Given the description of an element on the screen output the (x, y) to click on. 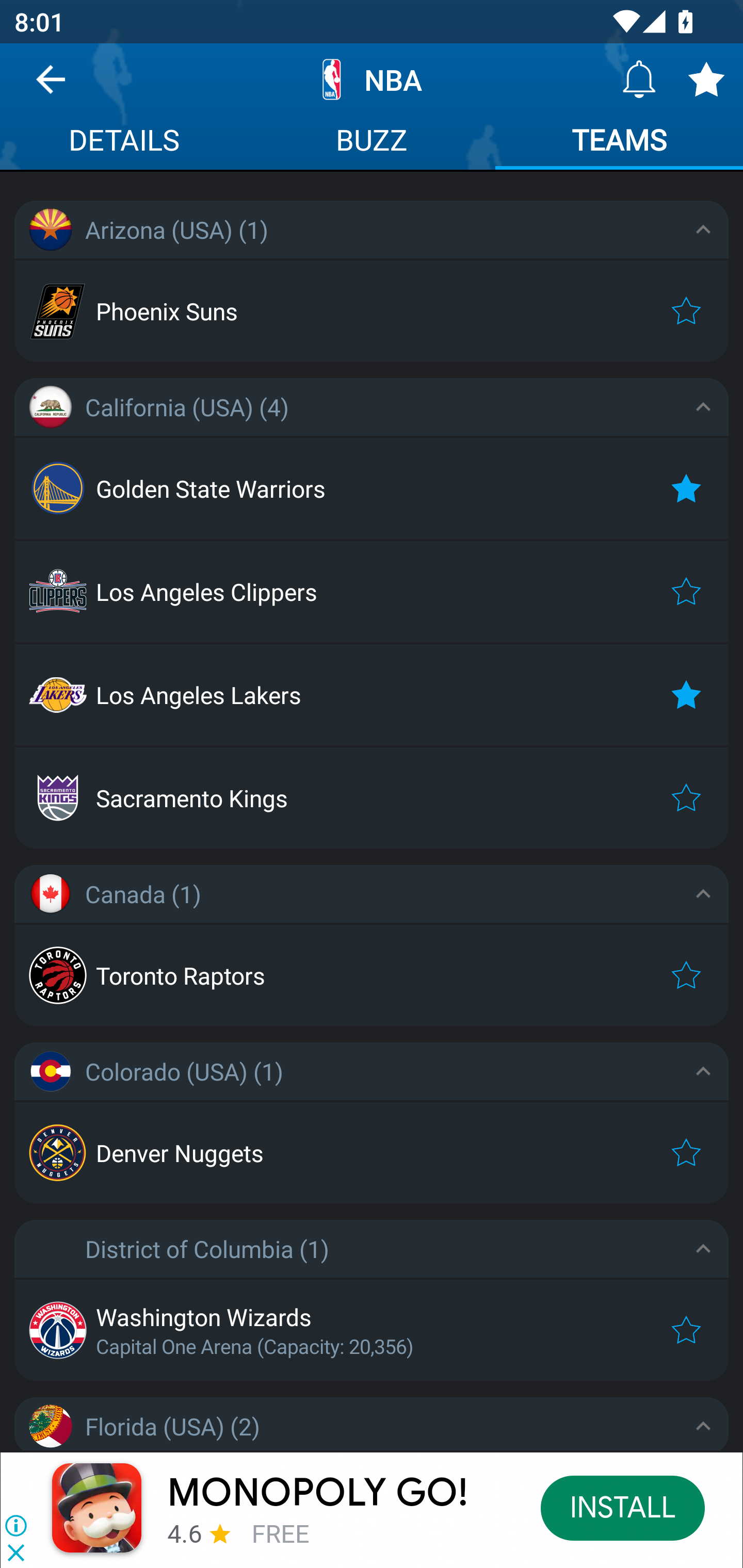
Navigate up (50, 86)
DETAILS (123, 142)
BUZZ (371, 142)
TEAMS (619, 142)
Arizona (USA) (1) (371, 229)
Phoenix Suns (371, 311)
California (USA) (4) (371, 406)
Golden State Warriors (371, 488)
Los Angeles Clippers (371, 591)
Los Angeles Lakers (371, 694)
Sacramento Kings (371, 797)
Canada (1) (371, 893)
Toronto Raptors (371, 975)
Colorado (USA) (1) (371, 1071)
Denver Nuggets (371, 1152)
District of Columbia (1) (371, 1248)
Florida (USA) (2) (371, 1423)
MONOPOLY GO! (318, 1493)
INSTALL (623, 1507)
